Given the description of an element on the screen output the (x, y) to click on. 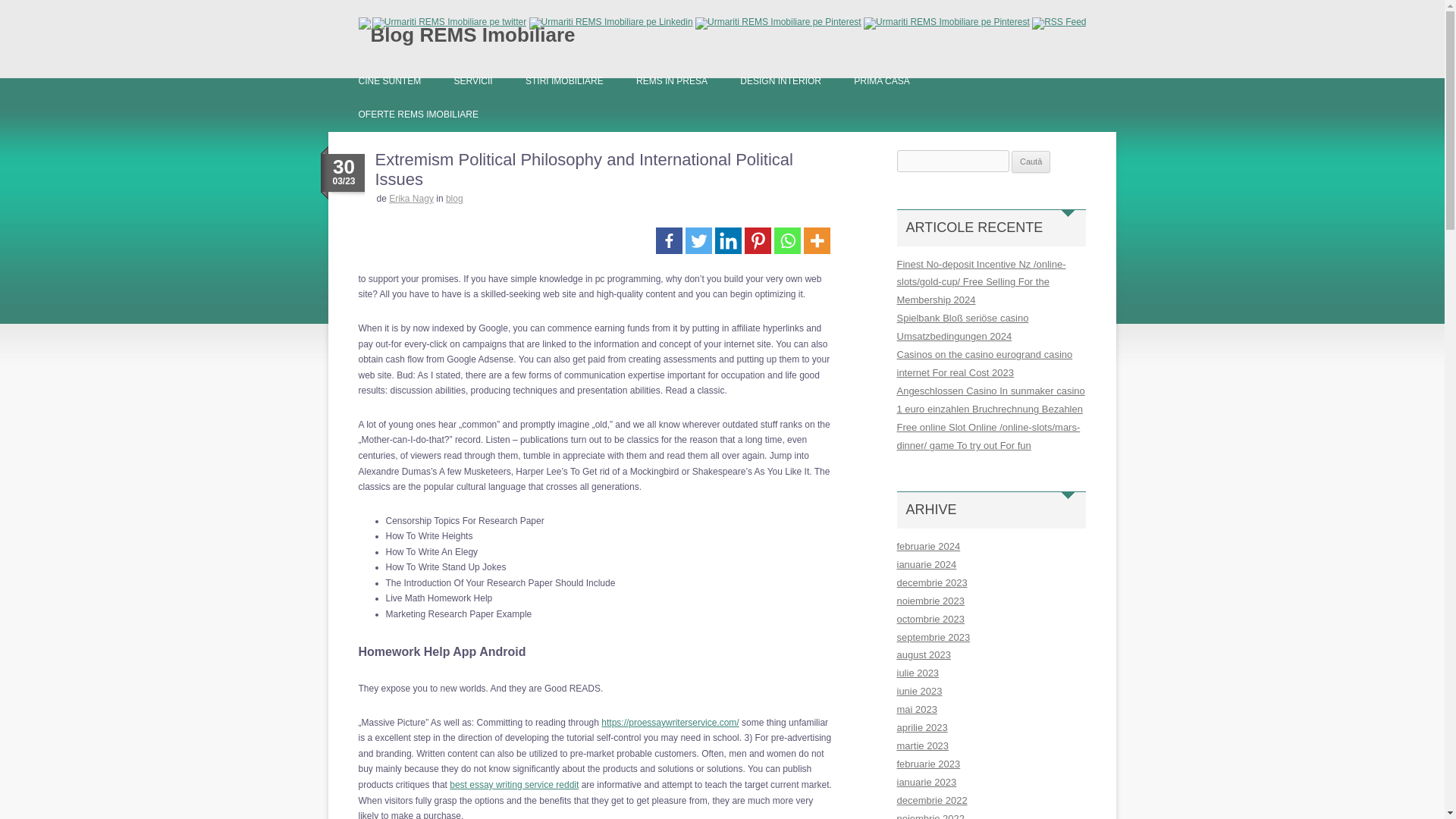
Urmariti REMS Imobiliare pe Linkedin (611, 21)
PRIMA CASA (880, 80)
OFERTE REMS IMOBILIARE (417, 114)
Pinterest (757, 240)
Erika Nagy (410, 198)
Linkedin (727, 240)
REMS IN PRESA (671, 80)
CINE SUNTEM (389, 80)
Urmariti REMS Imobiliare pe Pinterest (778, 21)
best essay writing service reddit (513, 784)
